Given the description of an element on the screen output the (x, y) to click on. 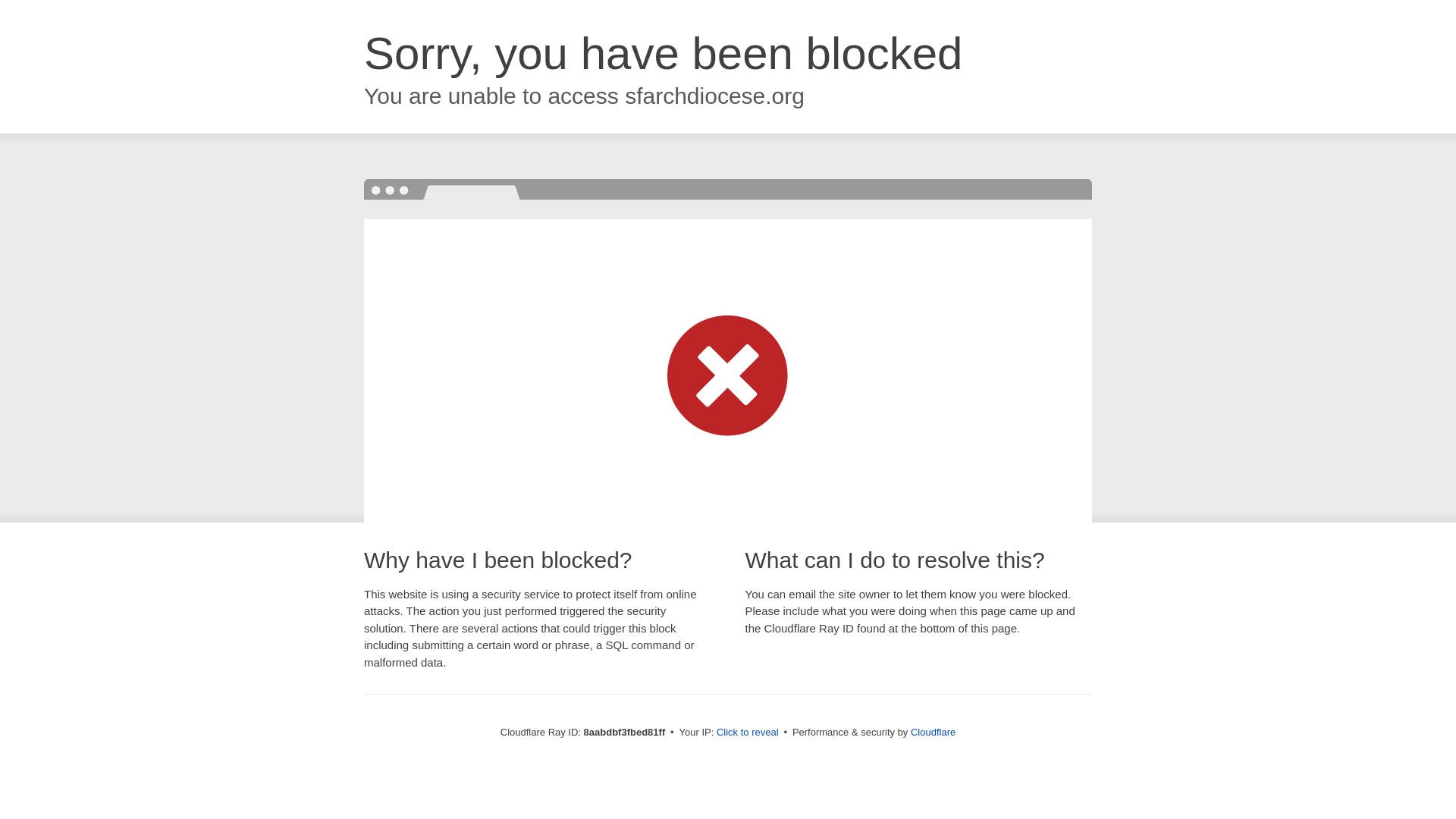
Cloudflare (933, 731)
Click to reveal (747, 732)
